Given the description of an element on the screen output the (x, y) to click on. 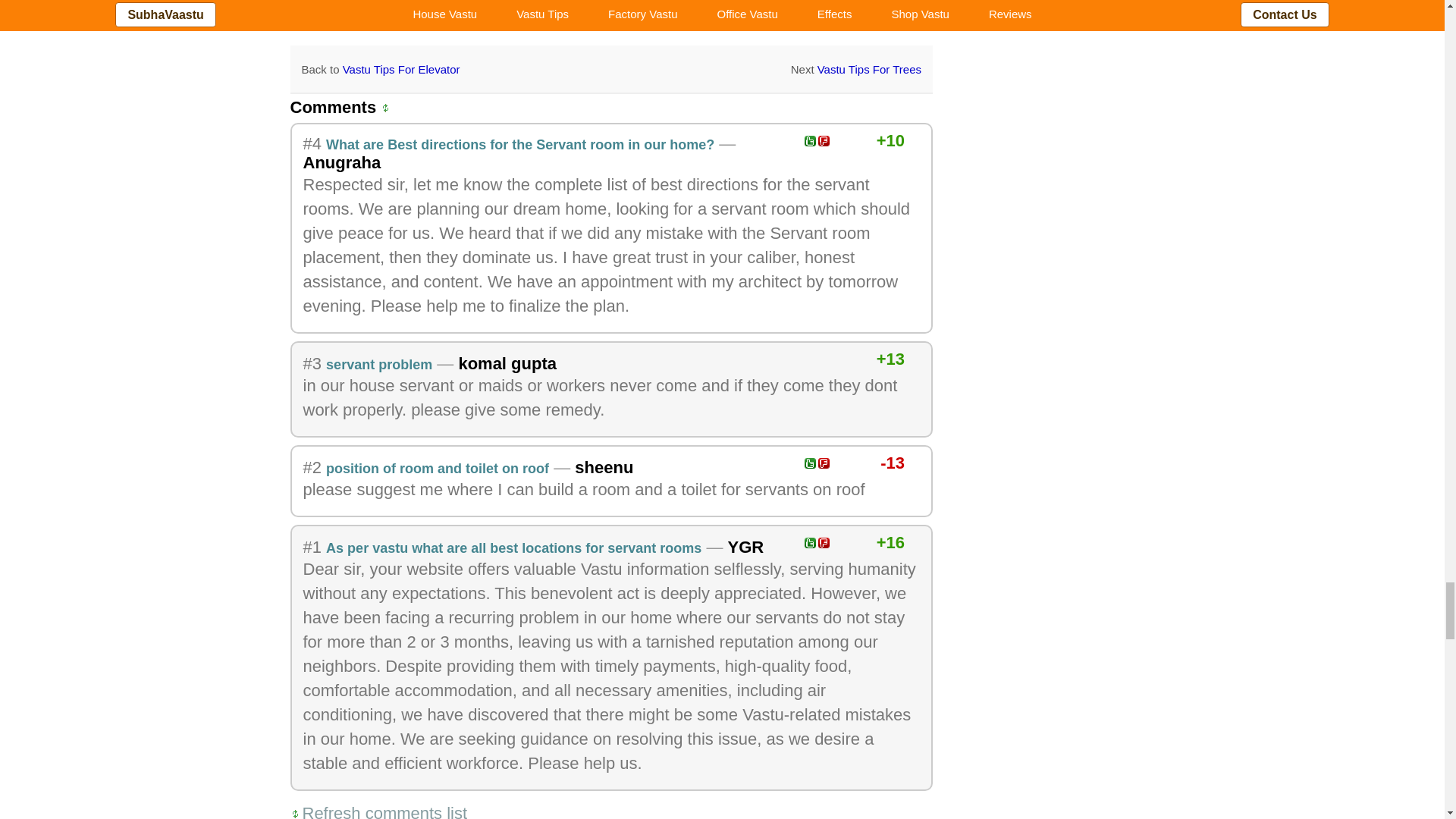
Good comment! (810, 462)
Refresh comments list (379, 808)
Bad comment! (823, 140)
Bad comment! (823, 462)
Good comment! (810, 140)
Bad comment! (823, 542)
Good comment! (810, 542)
